Given the description of an element on the screen output the (x, y) to click on. 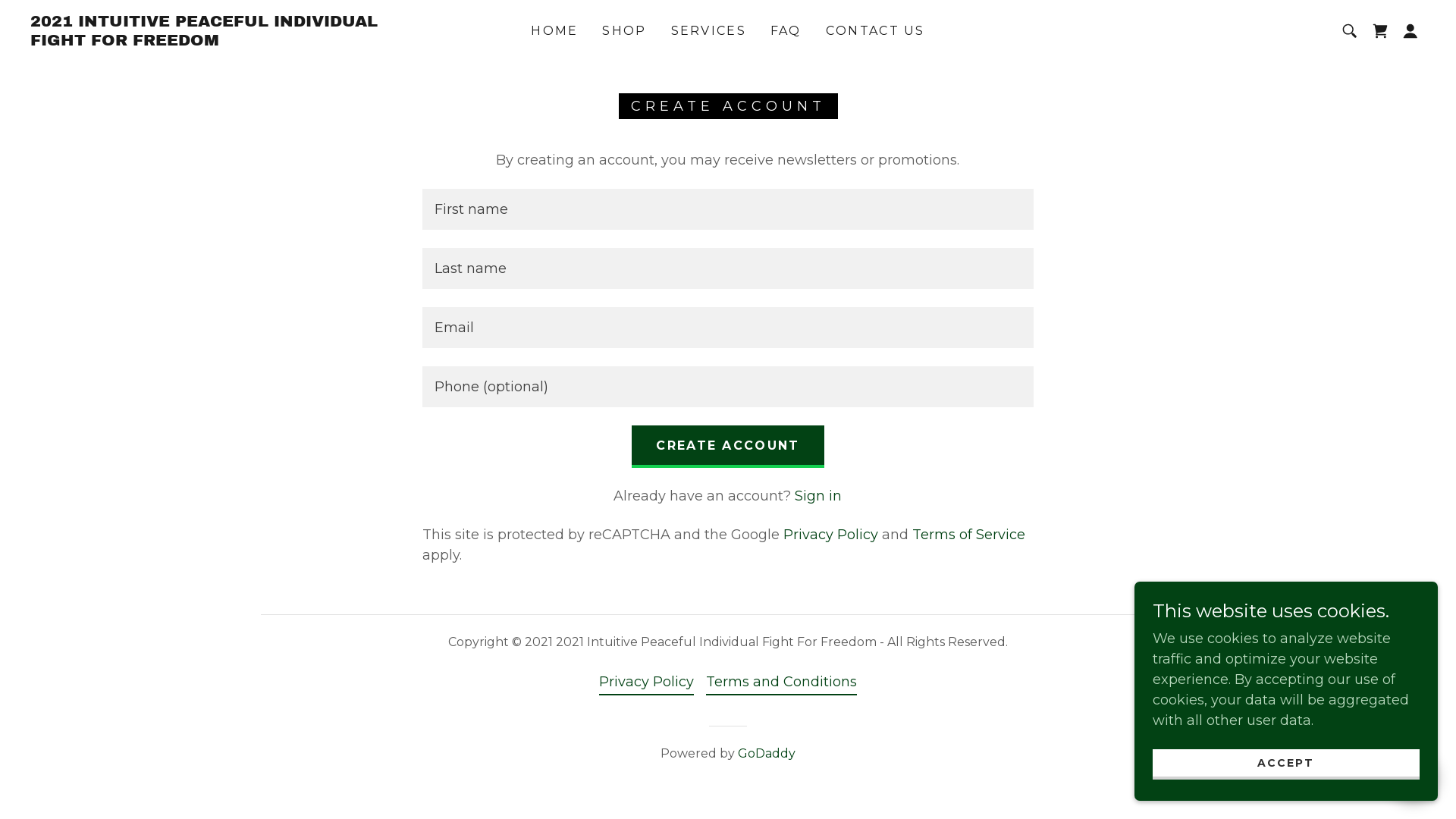
FAQ Element type: text (785, 30)
Sign in Element type: text (817, 495)
GoDaddy Element type: text (766, 753)
ACCEPT Element type: text (1285, 764)
2021 INTUITIVE PEACEFUL INDIVIDUAL FIGHT FOR FREEDOM Element type: text (227, 40)
HOME Element type: text (554, 30)
Terms and Conditions Element type: text (781, 682)
SERVICES Element type: text (708, 30)
Terms of Service Element type: text (968, 534)
Privacy Policy Element type: text (646, 682)
SHOP Element type: text (623, 30)
CREATE ACCOUNT Element type: text (727, 446)
Privacy Policy Element type: text (830, 534)
CONTACT US Element type: text (875, 30)
